Given the description of an element on the screen output the (x, y) to click on. 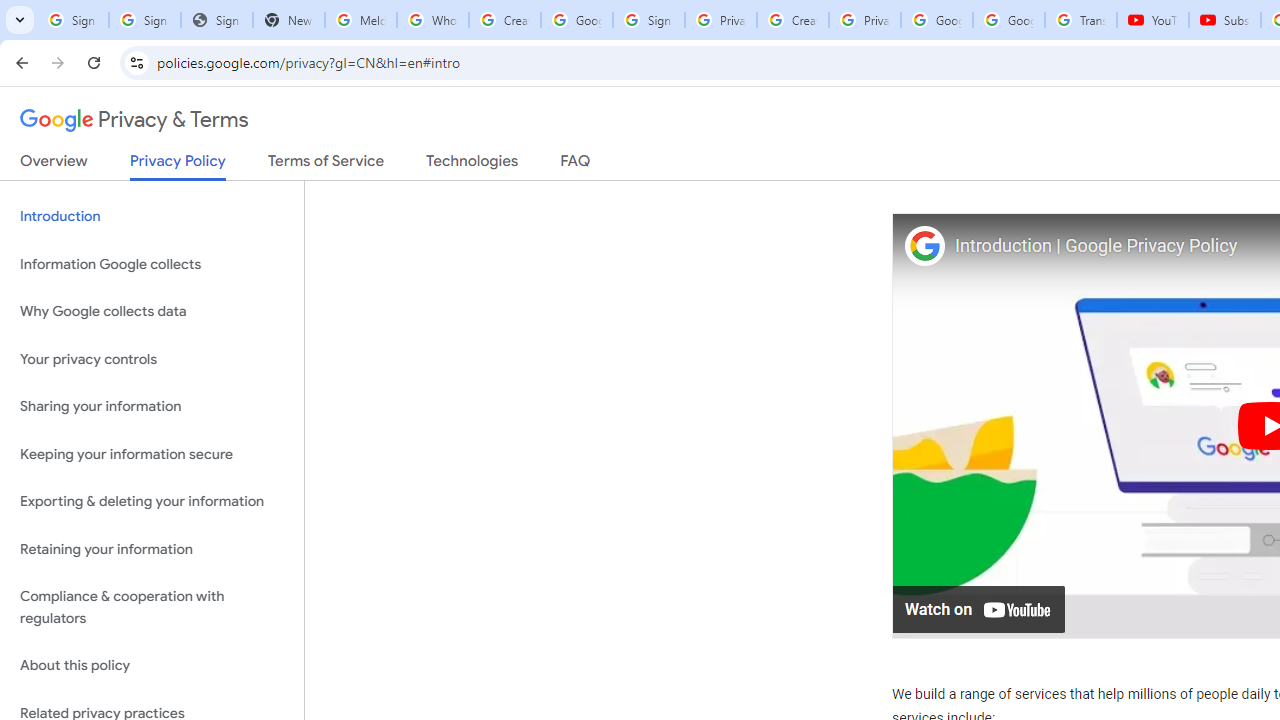
Keeping your information secure (152, 453)
Sharing your information (152, 407)
Photo image of Google (924, 244)
New Tab (289, 20)
Create your Google Account (792, 20)
Sign in - Google Accounts (144, 20)
